Given the description of an element on the screen output the (x, y) to click on. 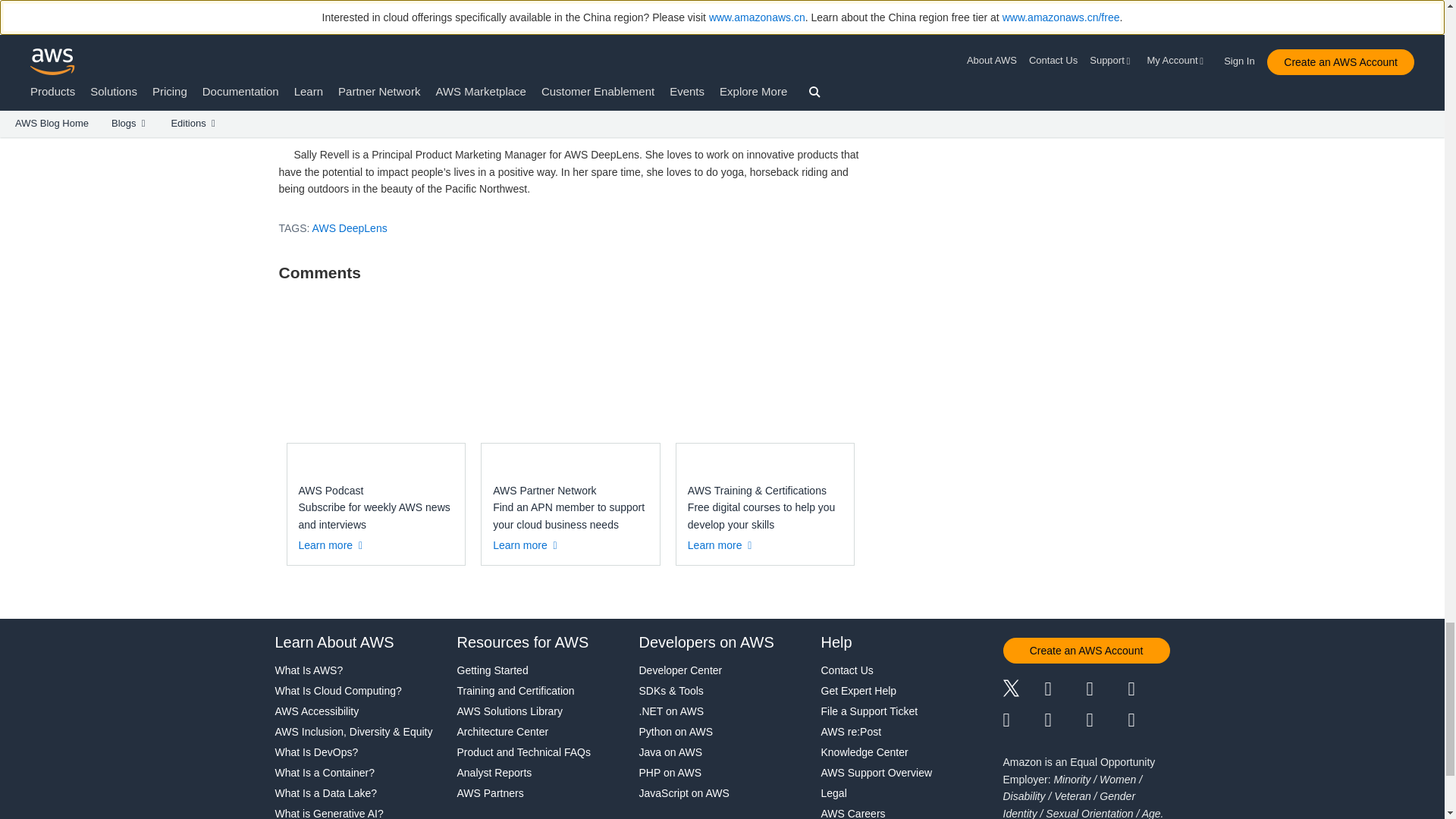
Twitch (1023, 720)
Instagram (1149, 689)
Linkedin (1106, 689)
YouTube (1065, 720)
Email (1149, 720)
Podcast (1106, 720)
Facebook (1065, 689)
Twitter (1023, 689)
